Given the description of an element on the screen output the (x, y) to click on. 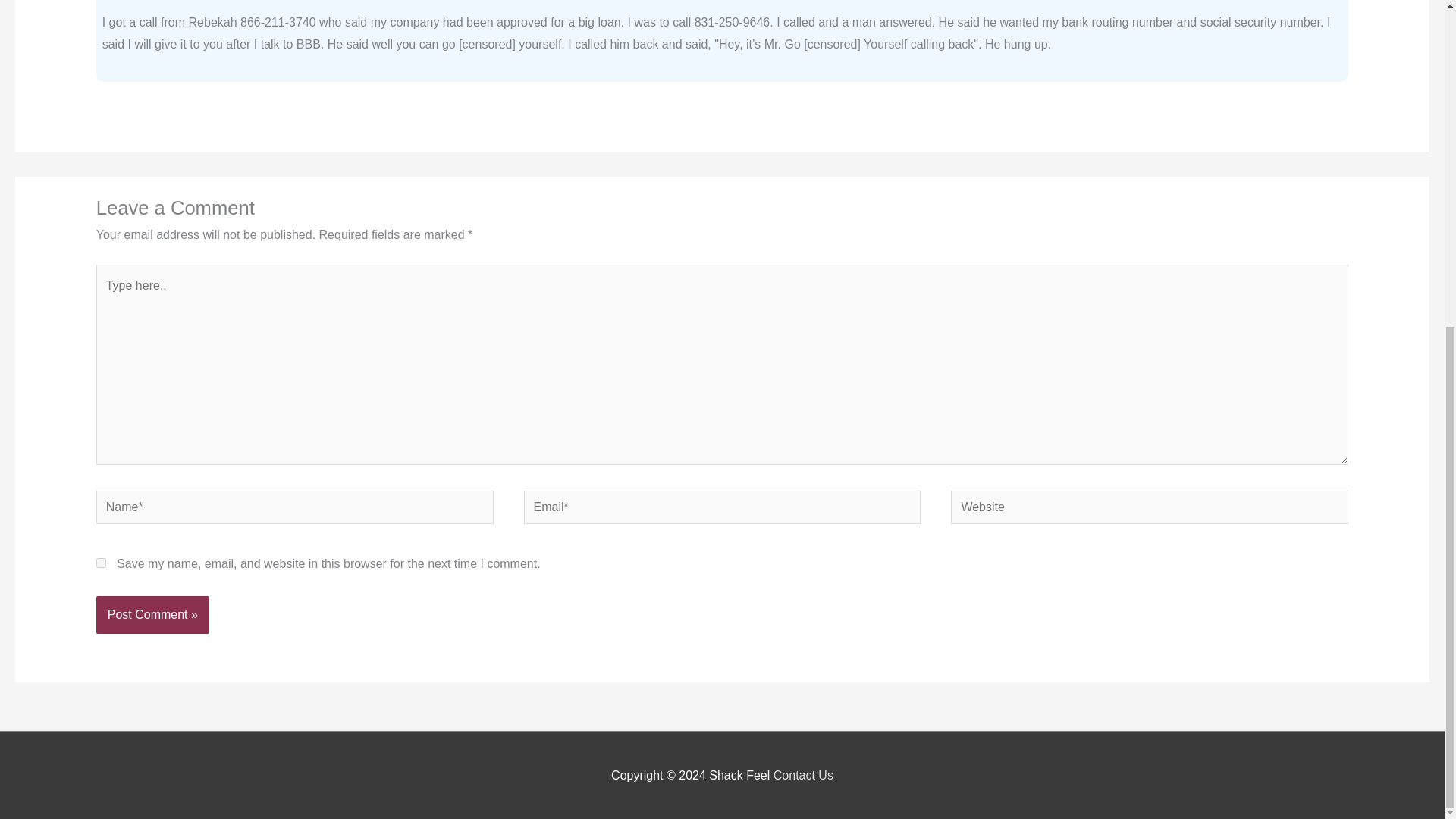
yes (101, 562)
Contact Us (802, 775)
